Given the description of an element on the screen output the (x, y) to click on. 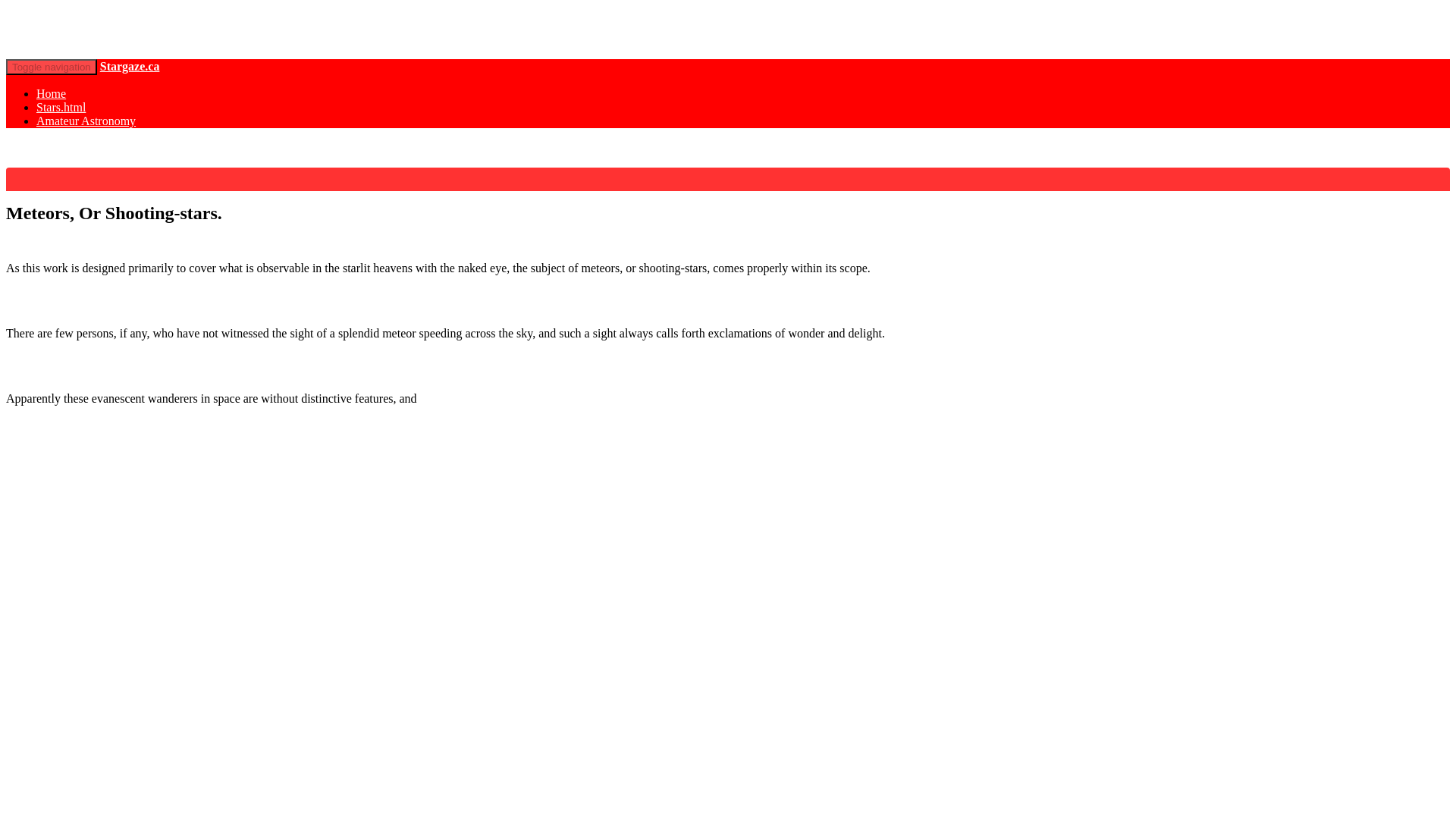
Toggle navigation (51, 66)
Amateur Astronomy (85, 120)
Home (50, 92)
Stargaze.ca (130, 65)
Stars.html (60, 106)
